Given the description of an element on the screen output the (x, y) to click on. 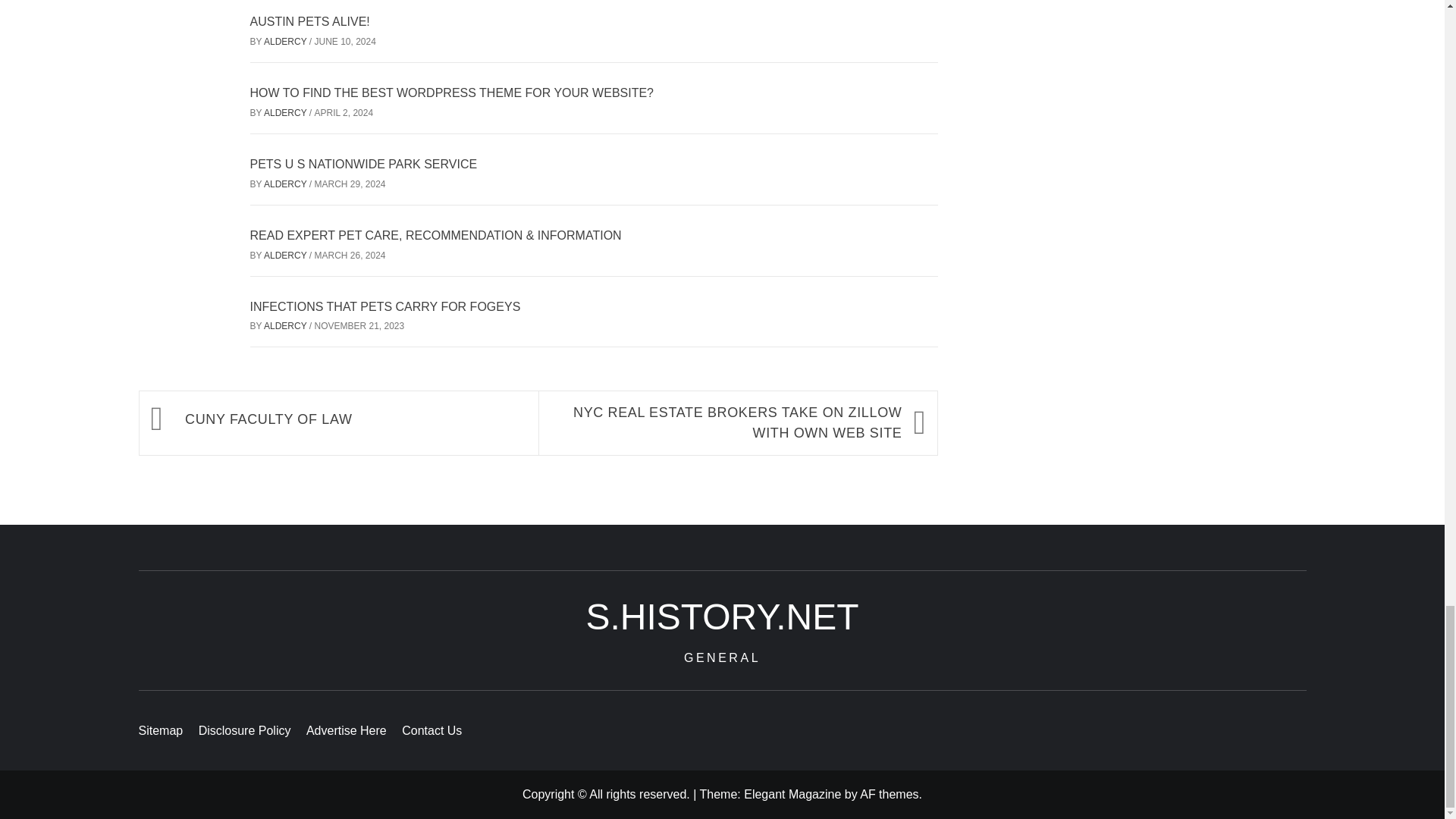
ALDERCY (285, 184)
INFECTIONS THAT PETS CARRY FOR FOGEYS (385, 306)
PETS U S NATIONWIDE PARK SERVICE (363, 164)
ALDERCY (285, 255)
ALDERCY (285, 112)
ALDERCY (285, 41)
AUSTIN PETS ALIVE! (309, 21)
HOW TO FIND THE BEST WORDPRESS THEME FOR YOUR WEBSITE? (451, 92)
